Given the description of an element on the screen output the (x, y) to click on. 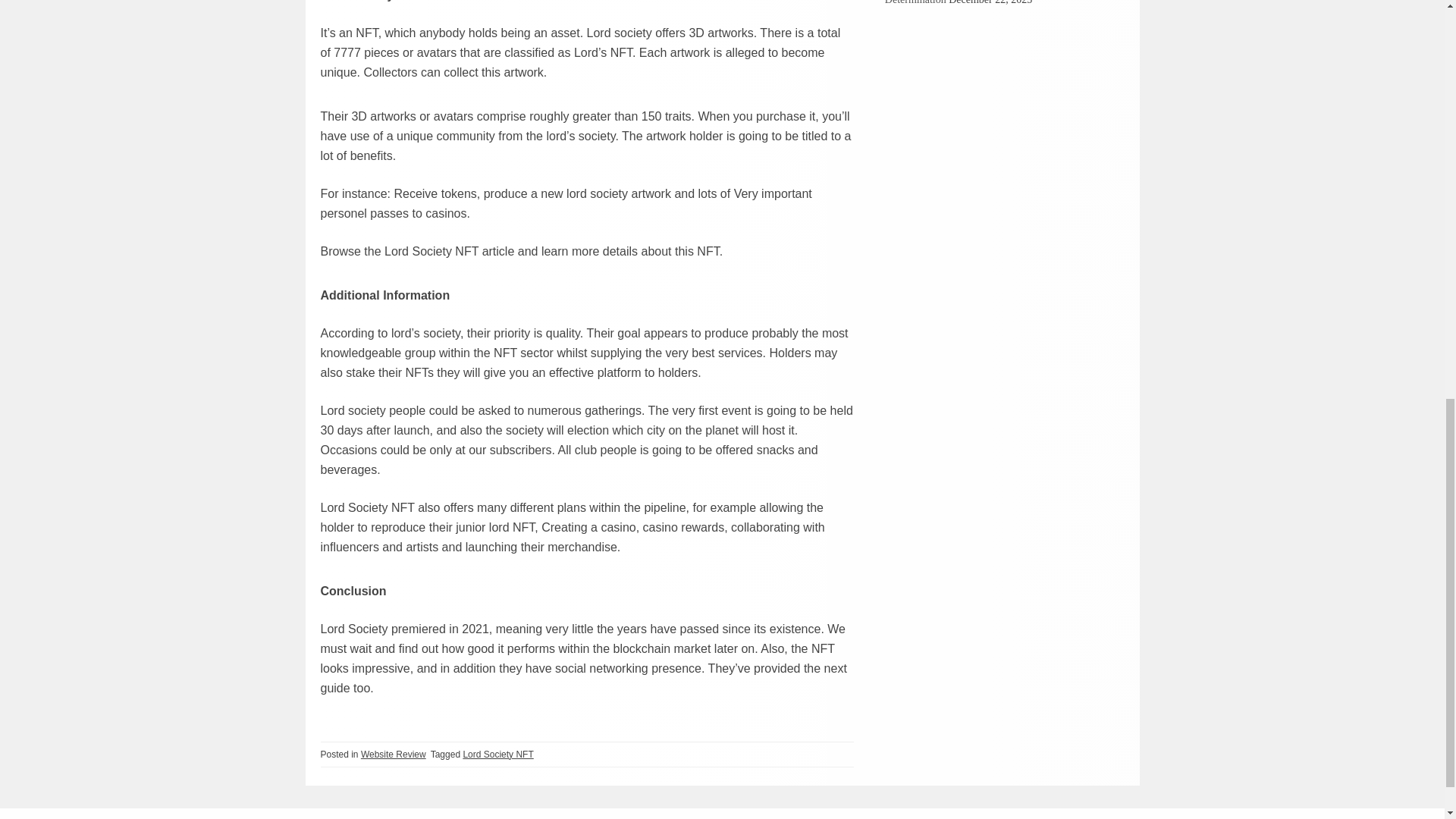
Mina Bonino: A Journey through Passion and Determination (987, 2)
Lord Society NFT (497, 754)
Website Review (393, 754)
